Given the description of an element on the screen output the (x, y) to click on. 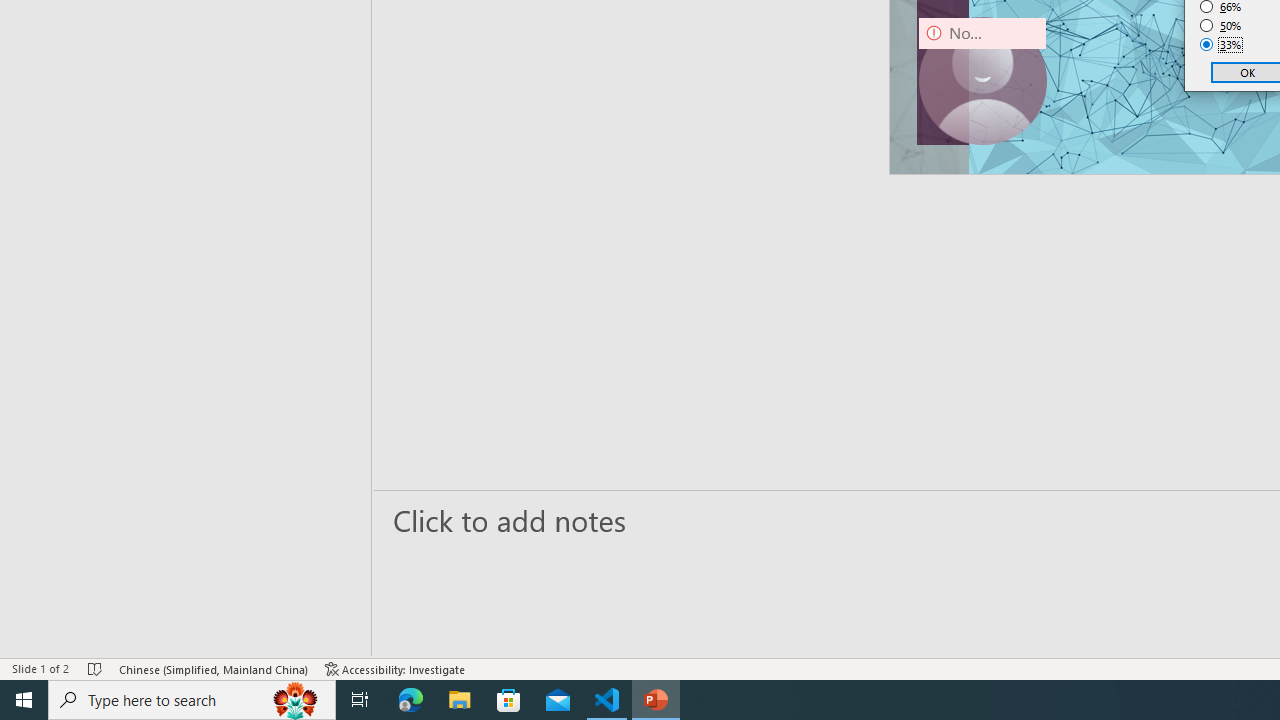
Microsoft Edge (411, 699)
33% (1221, 44)
50% (1221, 25)
Camera 9, No camera detected. (982, 80)
